Given the description of an element on the screen output the (x, y) to click on. 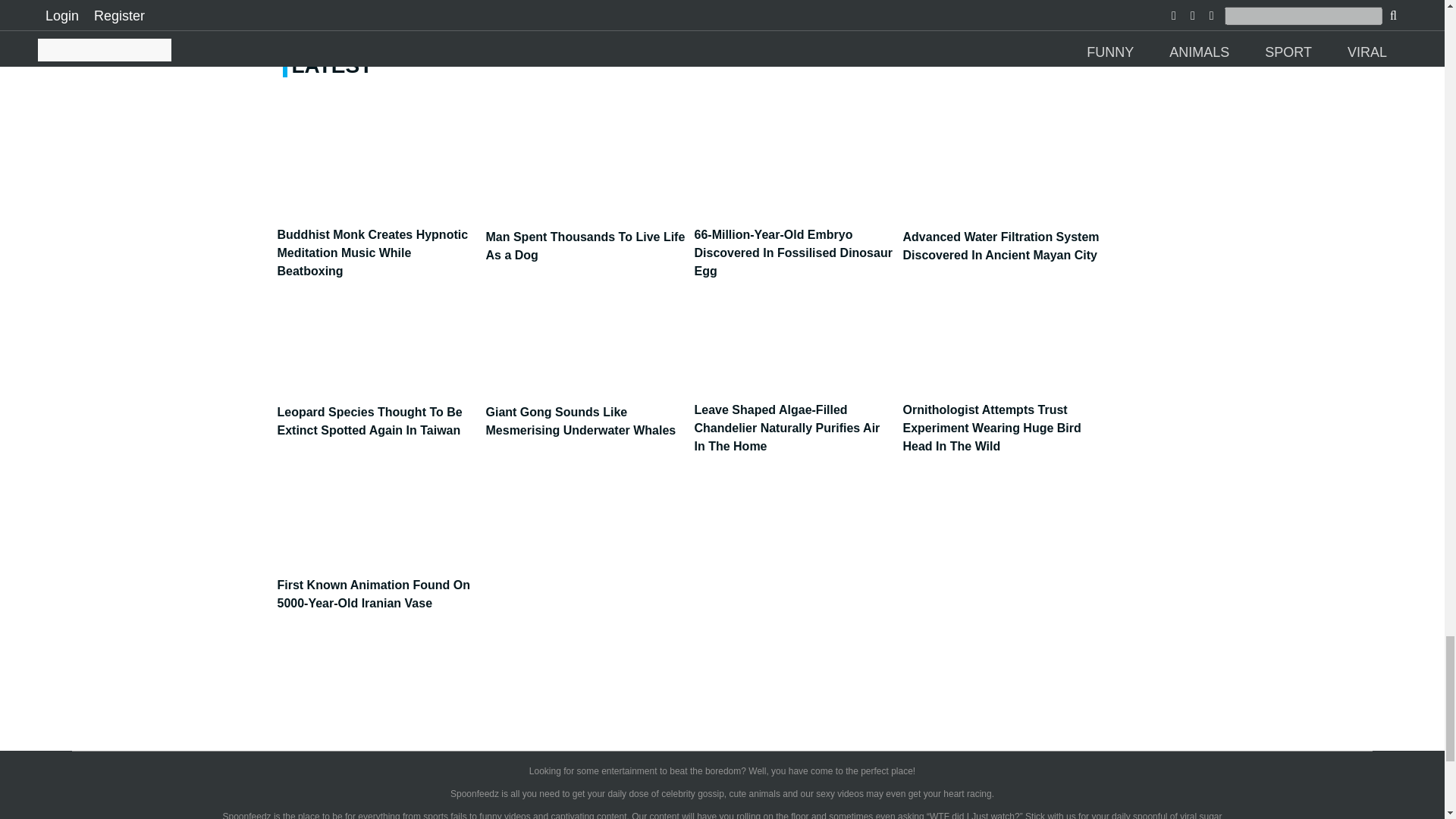
Giant Gong Sounds Like Mesmerising Underwater Whales (584, 413)
Man Spent Thousands To Live Life As a Dog (584, 238)
